Given the description of an element on the screen output the (x, y) to click on. 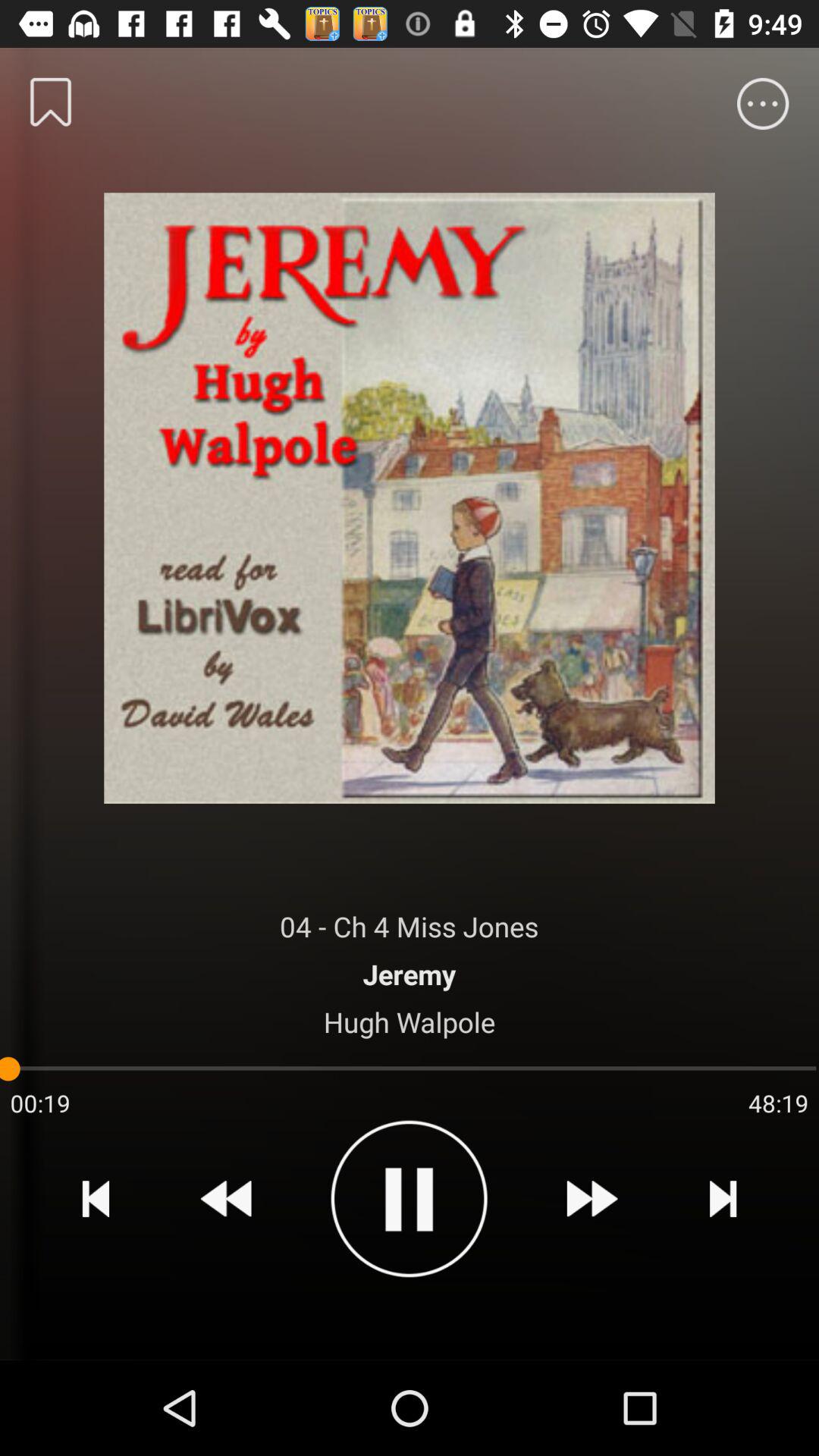
click 04 ch 4 (408, 926)
